Given the description of an element on the screen output the (x, y) to click on. 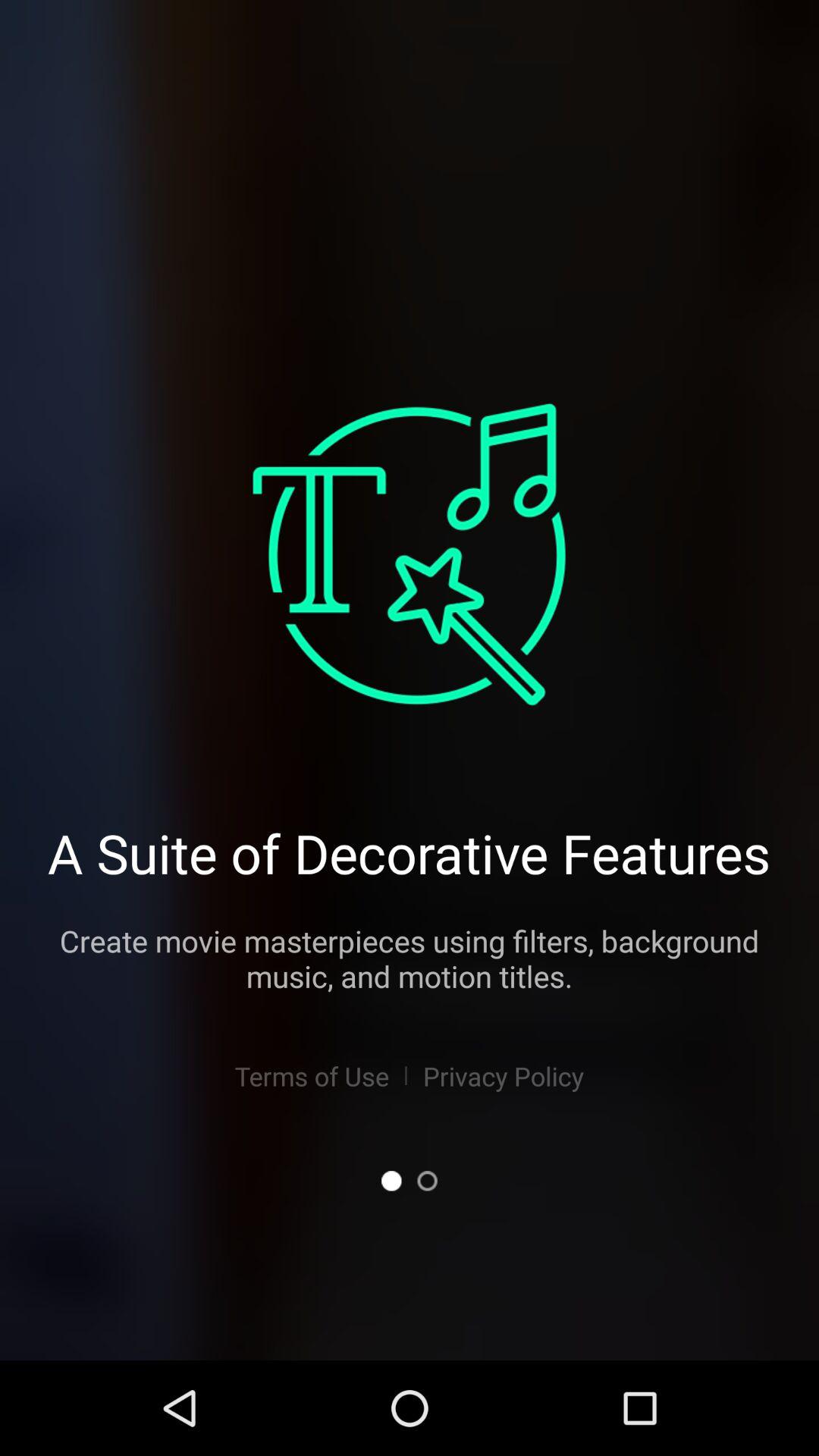
click the app below the create movie masterpieces (311, 1075)
